Given the description of an element on the screen output the (x, y) to click on. 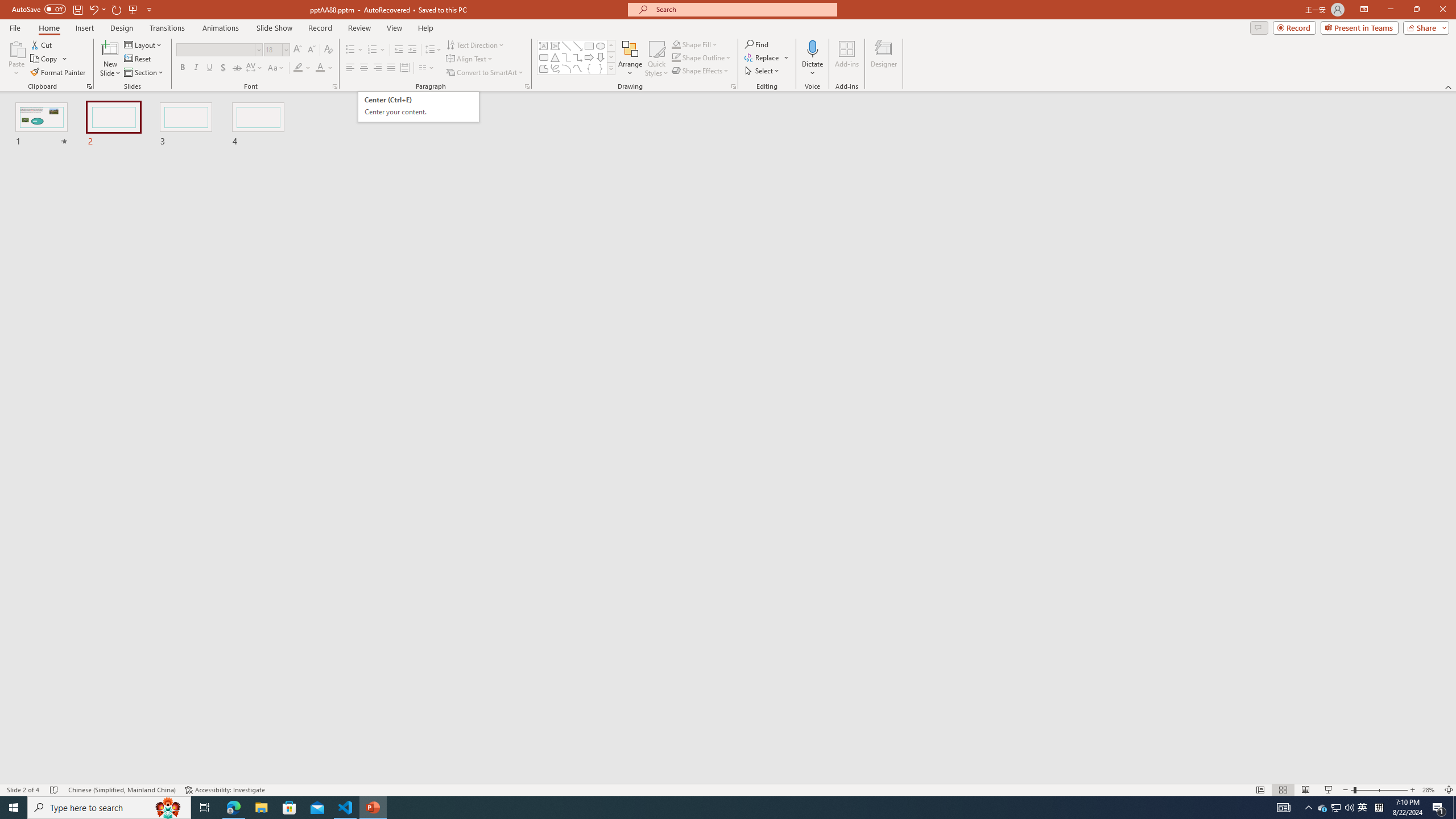
Align Left (349, 67)
Convert to SmartArt (485, 72)
Clear Formatting (327, 49)
Strikethrough (237, 67)
Arrow: Right (589, 57)
Quick Styles (656, 58)
Italic (195, 67)
Arrange (630, 58)
Bullets (354, 49)
Connector: Elbow Arrow (577, 57)
Increase Indent (412, 49)
